Given the description of an element on the screen output the (x, y) to click on. 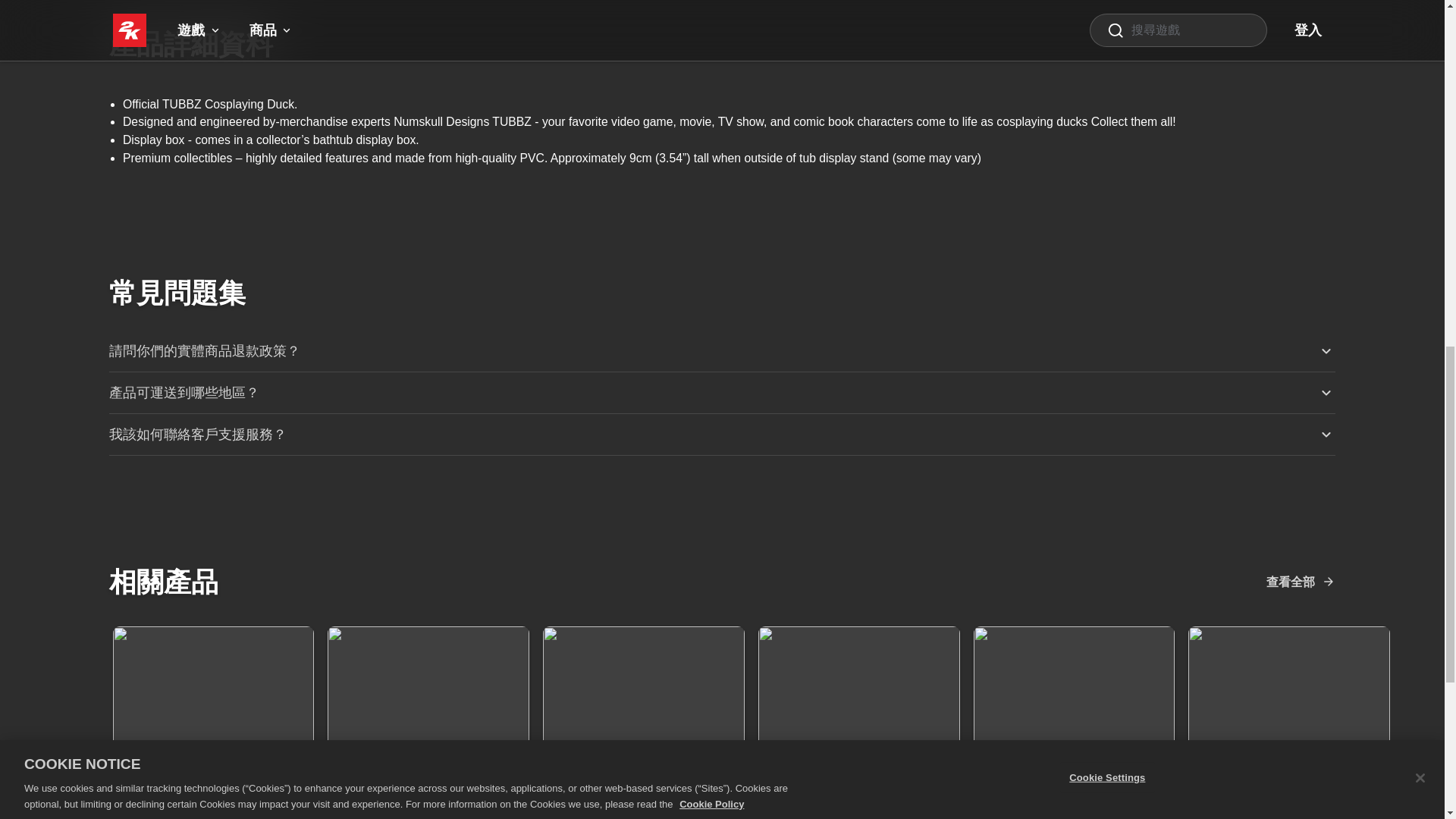
Borderlands 3 Brick TUBBZ Cosplaying Duck Collectible (428, 719)
Pop! Games: Borderlands 3 - Maya (858, 719)
Borderlands 3 Tiny Tina Purse (1289, 719)
Borderlands 3 Manufacturer Logo Pin Set 2 (213, 719)
McFarlane Toys Tiny Tina 7 Inch Action Figure (643, 719)
